Given the description of an element on the screen output the (x, y) to click on. 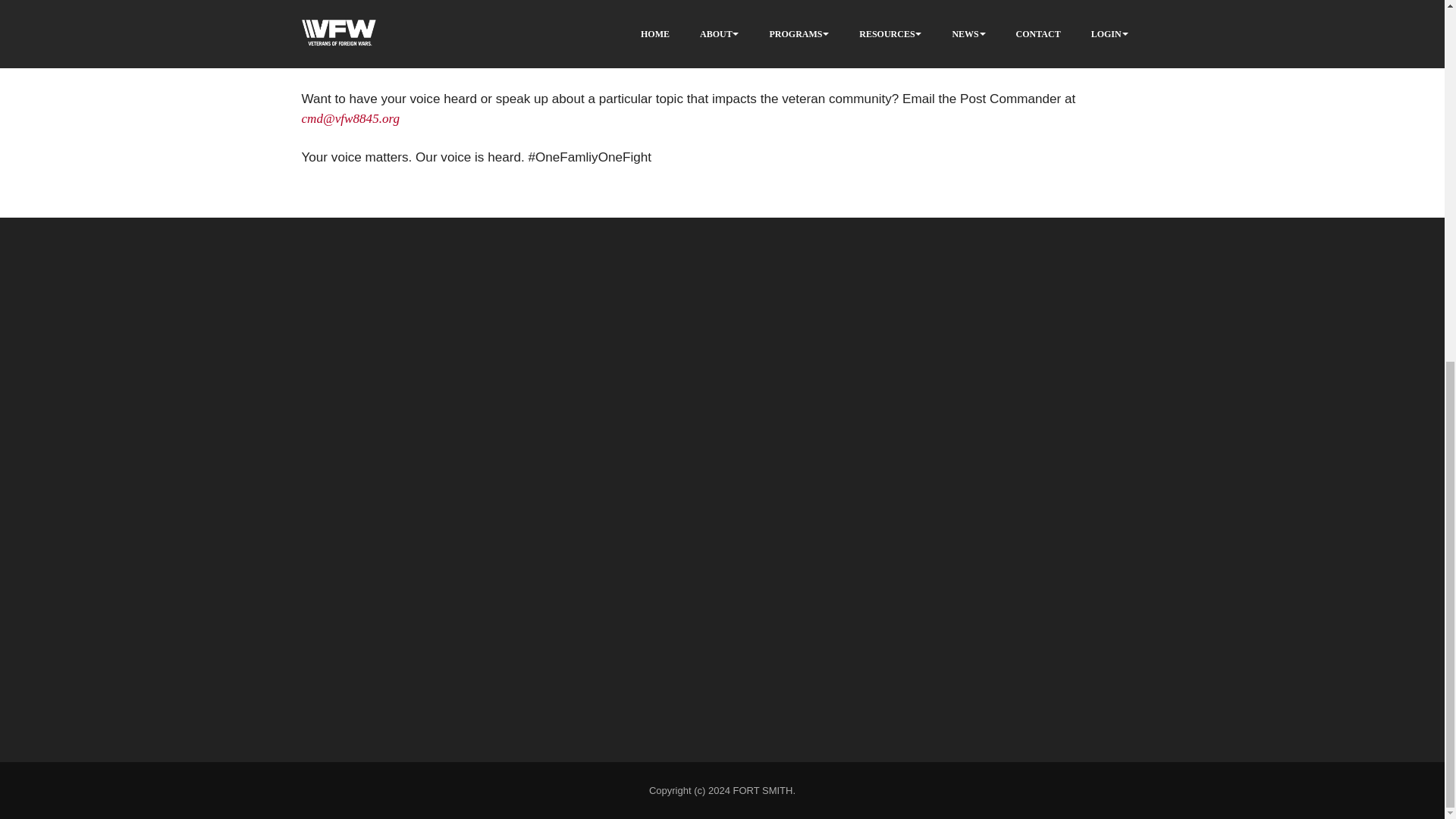
CDR Email (350, 118)
